Given the description of an element on the screen output the (x, y) to click on. 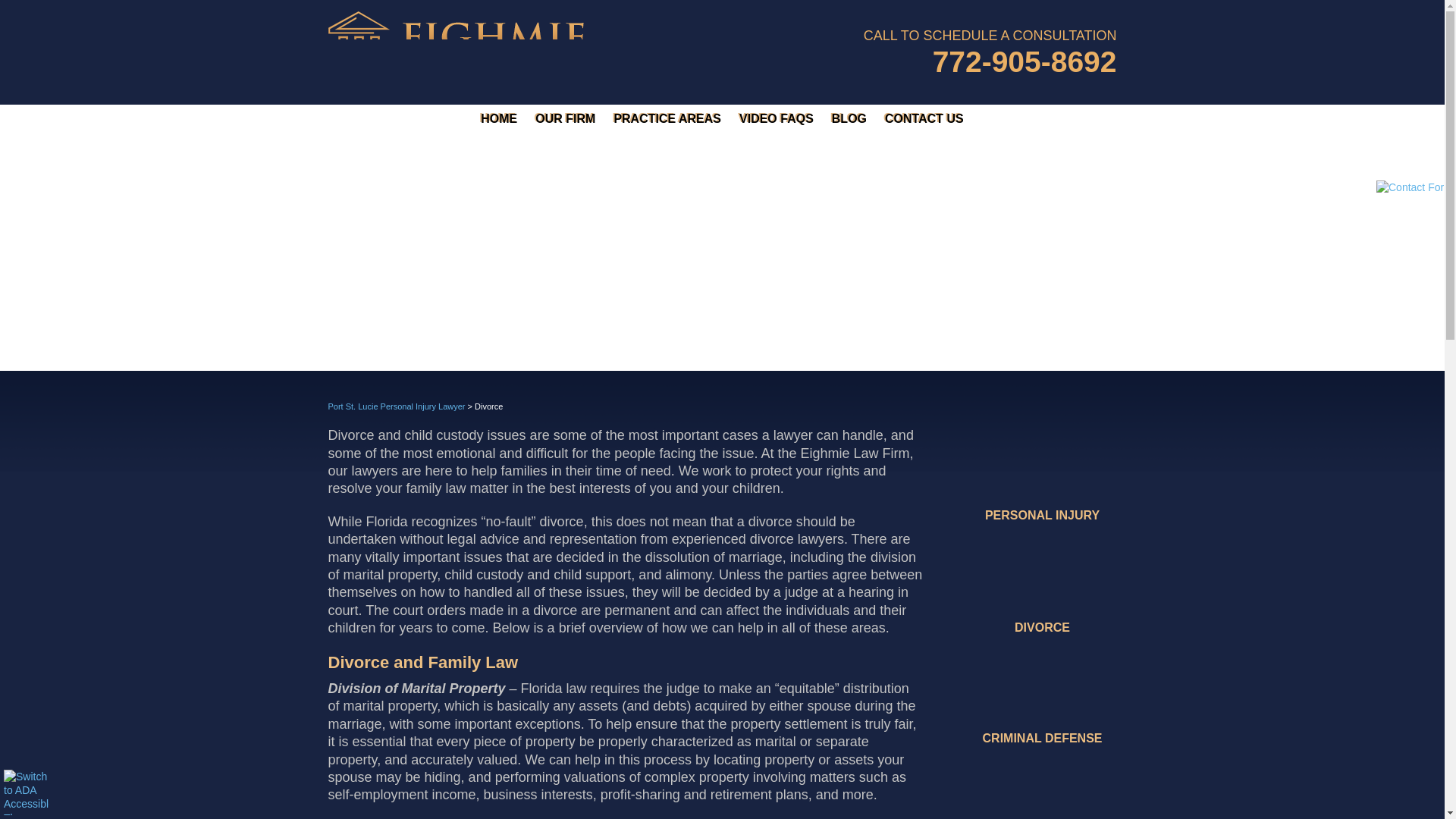
CRIMINAL DEFENSE (1042, 698)
PERSONAL INJURY (1042, 475)
VIDEO FAQS (776, 118)
772-905-8692 (1015, 61)
OUR FIRM (565, 118)
Port St. Lucie Personal Injury Lawyer (395, 406)
VETERANS DISABILITY APPEALS (1042, 790)
BLOG (849, 118)
PRACTICE AREAS (667, 118)
CONTACT US (924, 118)
